Given the description of an element on the screen output the (x, y) to click on. 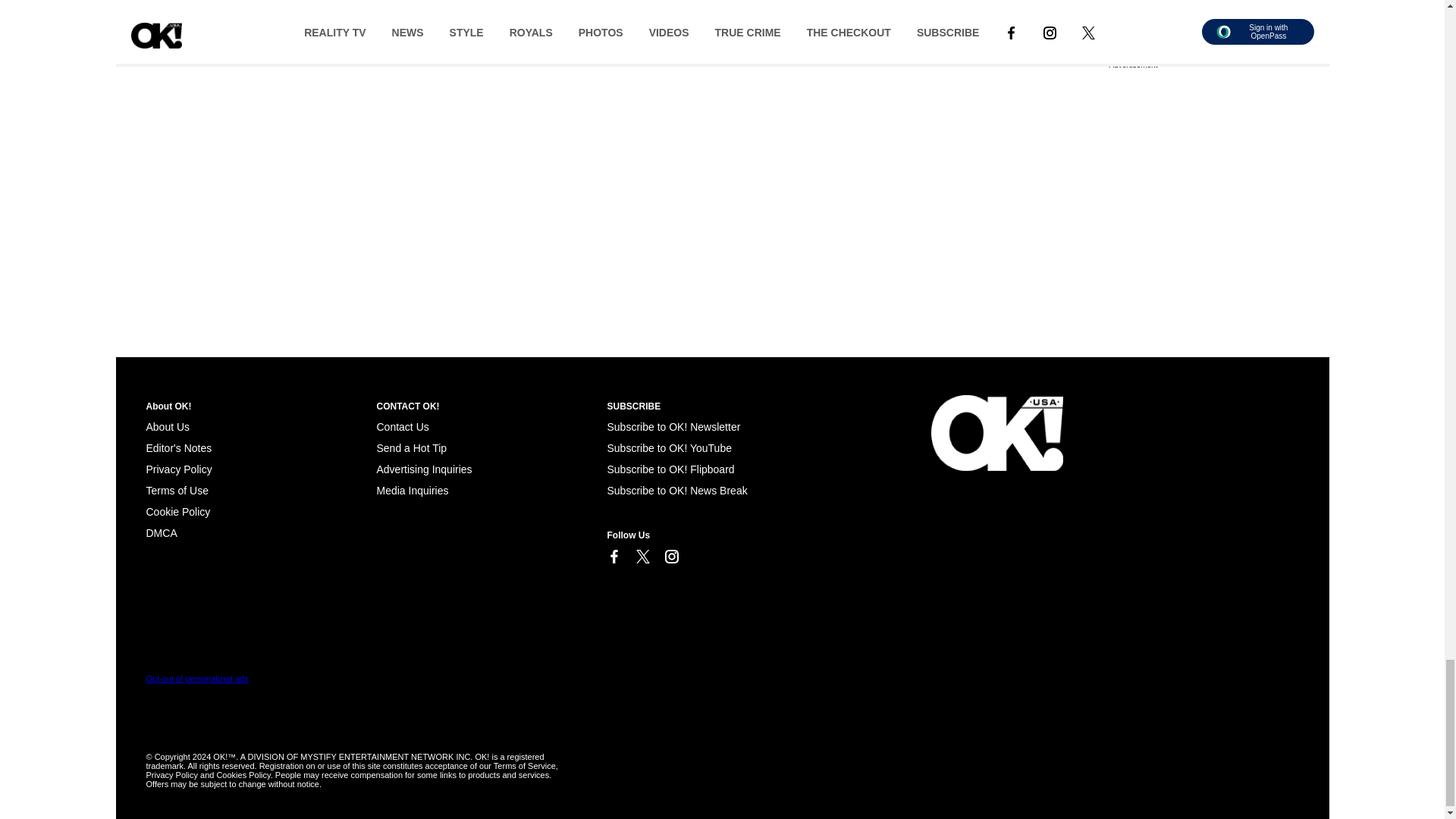
Terms of Use (176, 490)
Link to Instagram (670, 556)
Cookie Policy (177, 511)
Link to Facebook (613, 556)
About Us (167, 426)
Contact Us (401, 426)
Cookie Policy (160, 532)
Privacy Policy (178, 469)
Editor's Notes (178, 448)
Link to X (641, 556)
